Given the description of an element on the screen output the (x, y) to click on. 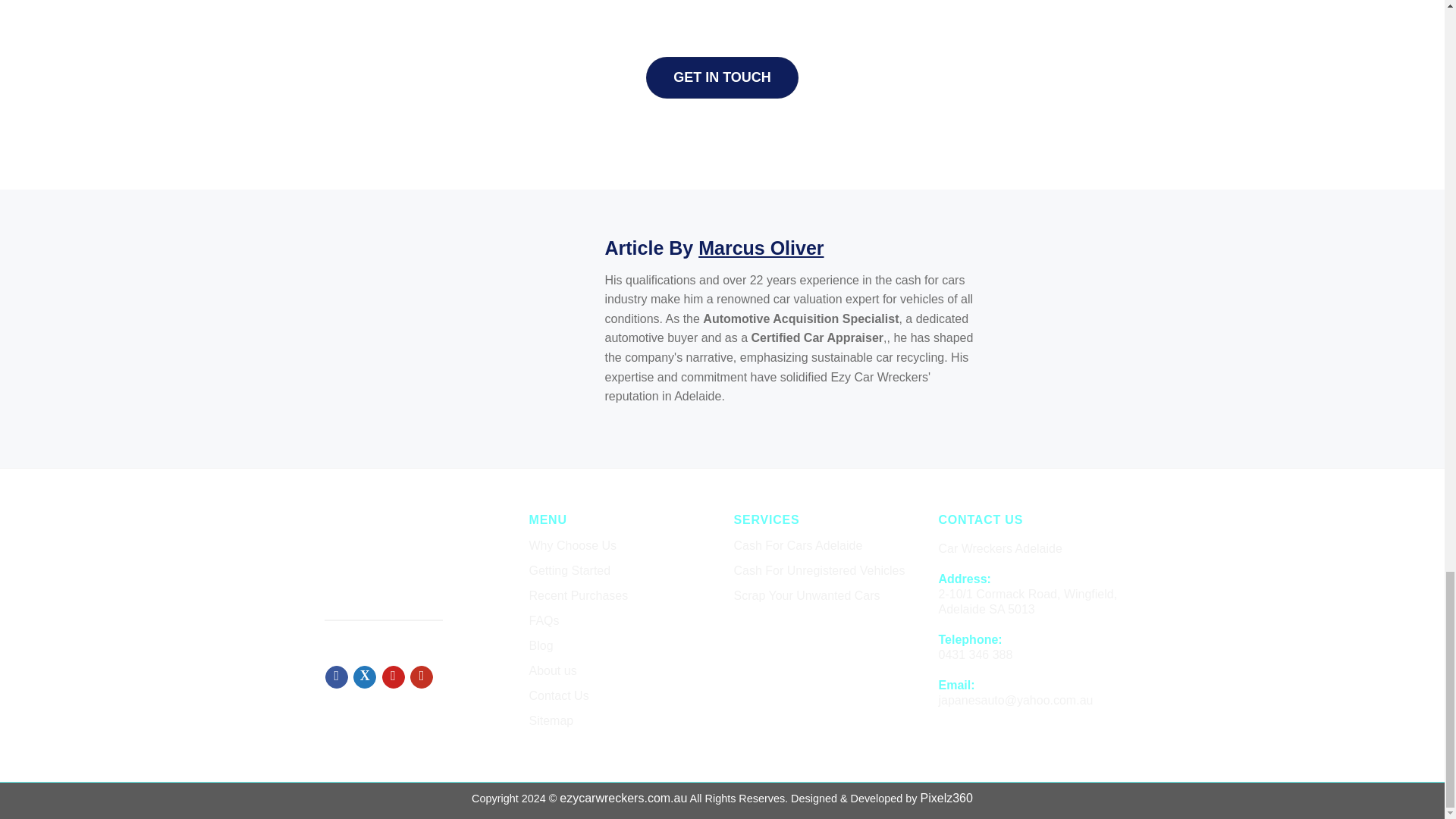
Follow on YouTube (421, 676)
Follow on Facebook (335, 676)
Follow on Pinterest (392, 676)
Follow on Twitter (364, 676)
